Given the description of an element on the screen output the (x, y) to click on. 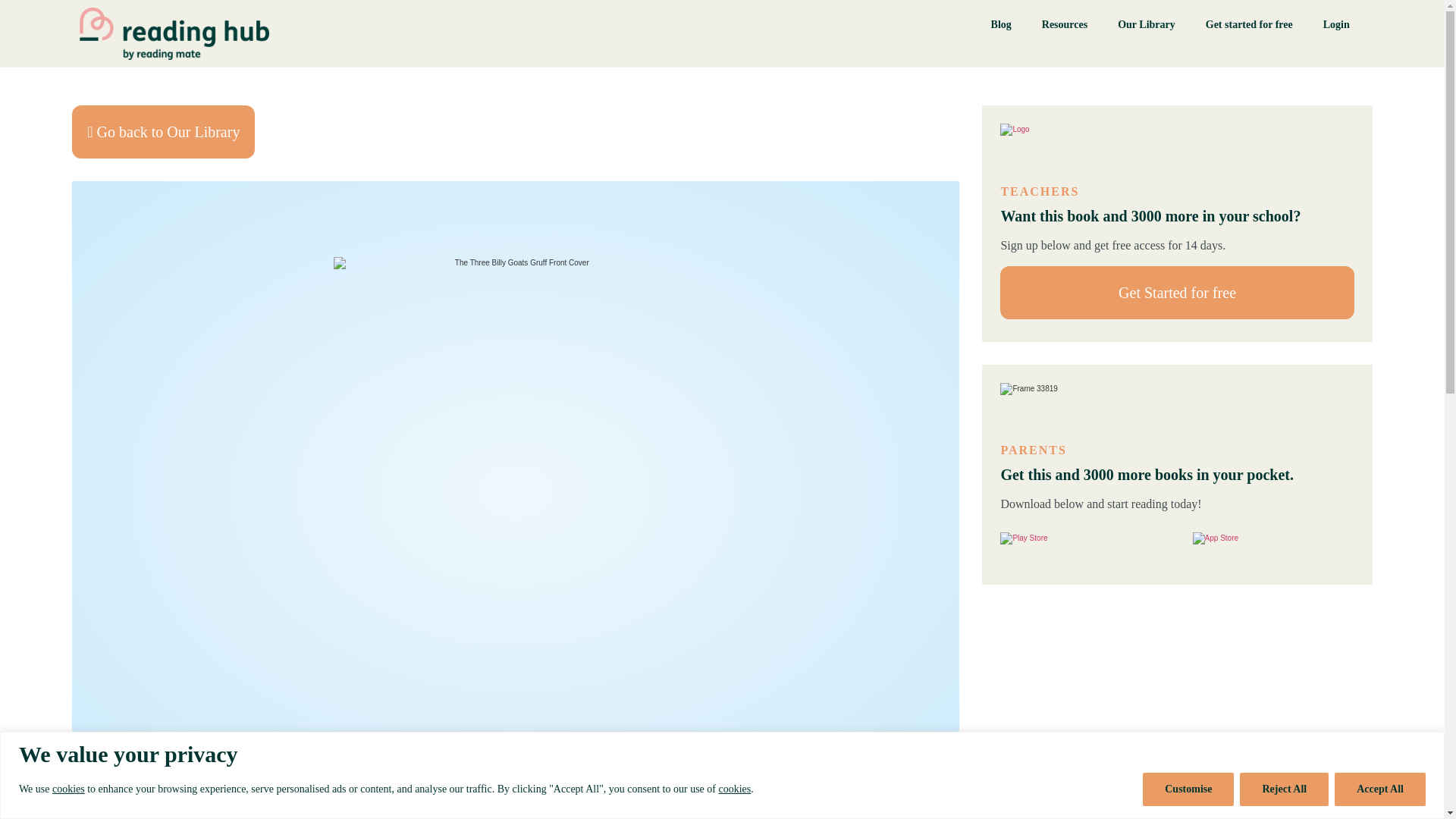
Get started for free (1249, 24)
Accept All (1380, 788)
Our Library (1146, 24)
Customise (1187, 788)
Login (1336, 24)
Resources (1064, 24)
Reject All (1283, 788)
Blog (1000, 24)
cookies (734, 787)
cookies (68, 787)
